Given the description of an element on the screen output the (x, y) to click on. 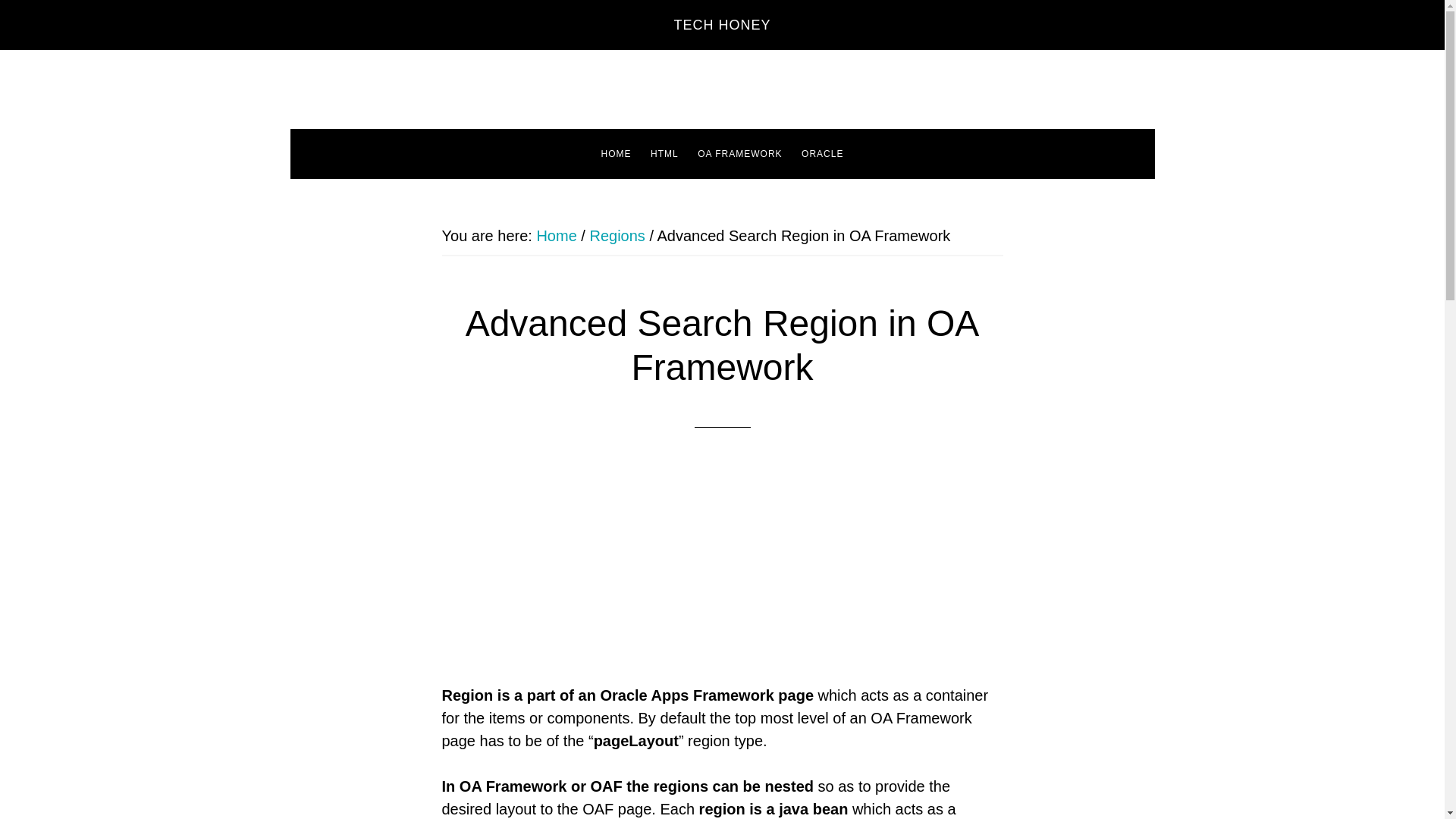
Home (555, 235)
HTML (664, 153)
OA FRAMEWORK (739, 153)
ORACLE (821, 153)
Regions (617, 235)
HOME (616, 153)
TECH HONEY (721, 24)
